Given the description of an element on the screen output the (x, y) to click on. 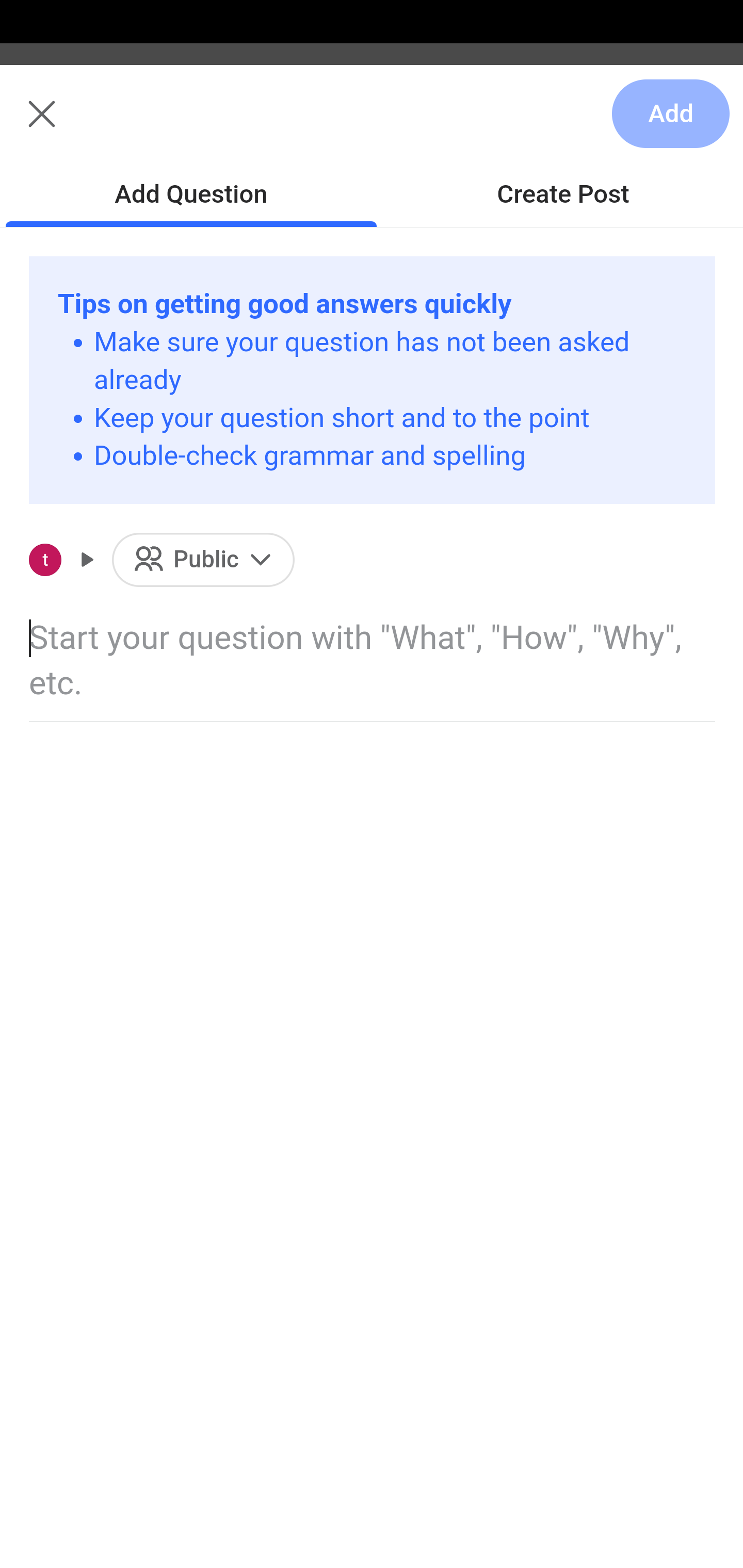
Me Home Search Add (371, 125)
Me (64, 125)
